Given the description of an element on the screen output the (x, y) to click on. 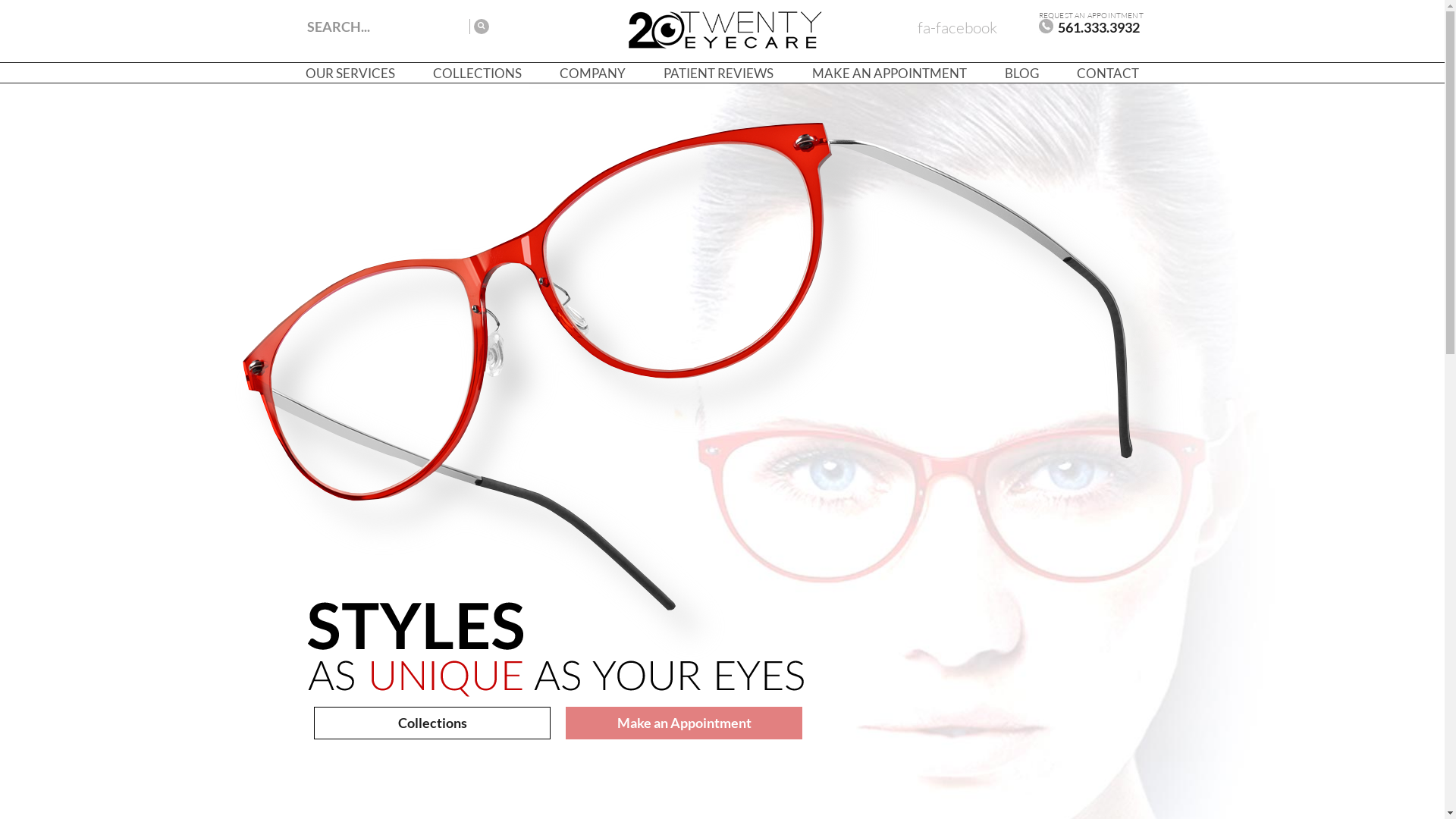
BLOG Element type: text (1021, 72)
fa-facebook Element type: text (956, 27)
MAKE AN APPOINTMENT Element type: text (889, 72)
CONTACT Element type: text (1107, 72)
OUR SERVICES Element type: text (349, 72)
561.333.3932 Element type: text (1088, 26)
PATIENT REVIEWS Element type: text (718, 72)
COMPANY Element type: text (592, 72)
Collections Element type: text (431, 722)
Make an Appointment Element type: text (683, 722)
COLLECTIONS Element type: text (477, 72)
